Given the description of an element on the screen output the (x, y) to click on. 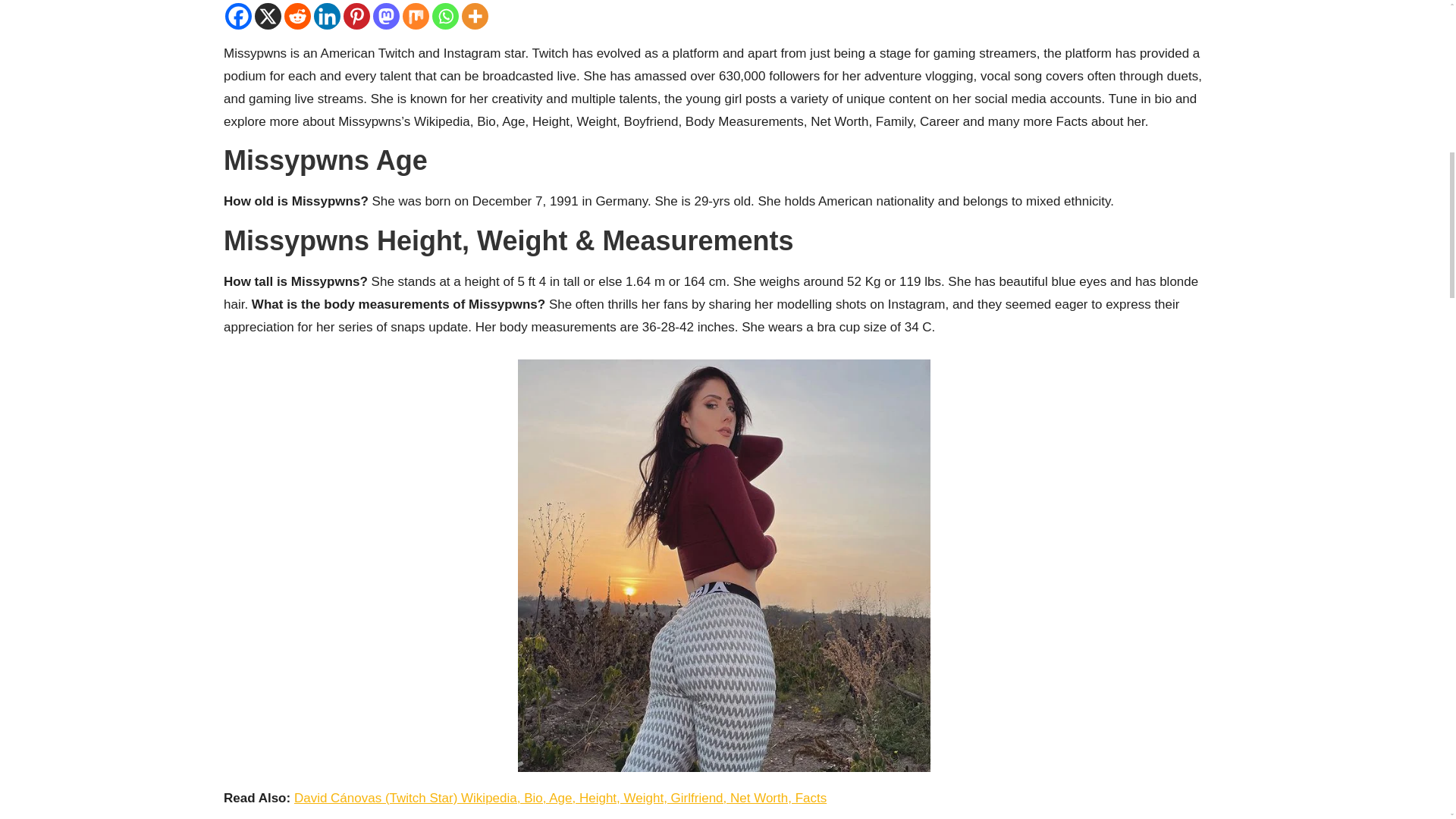
Reddit (297, 16)
Linkedin (327, 16)
Mastodon (385, 16)
More (474, 16)
Whatsapp (445, 16)
Pinterest (356, 16)
Mix (416, 16)
X (267, 16)
Facebook (238, 16)
